Given the description of an element on the screen output the (x, y) to click on. 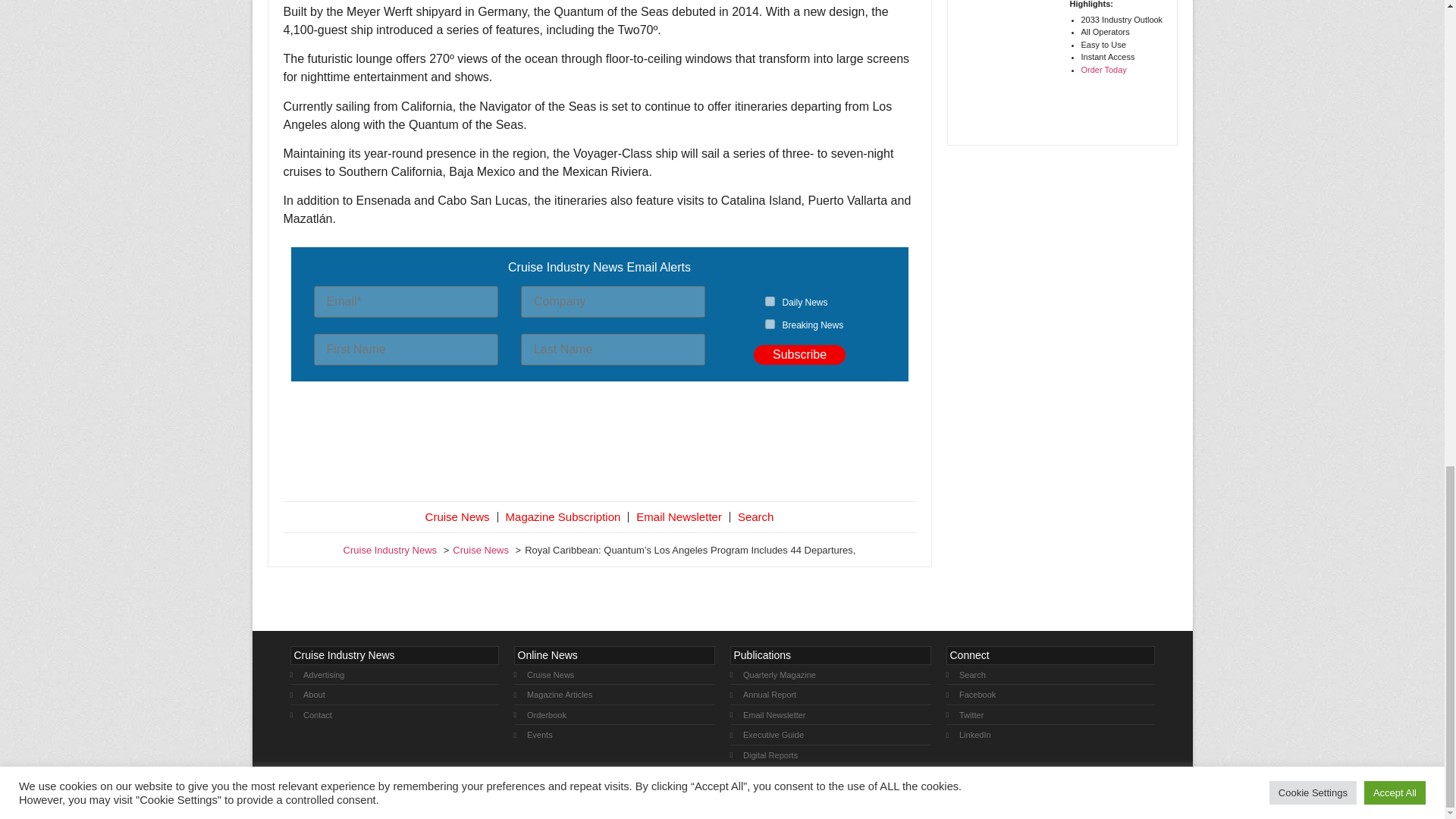
1 (769, 301)
Subscribe (799, 354)
3rd party ad content (599, 444)
2 (769, 324)
